Given the description of an element on the screen output the (x, y) to click on. 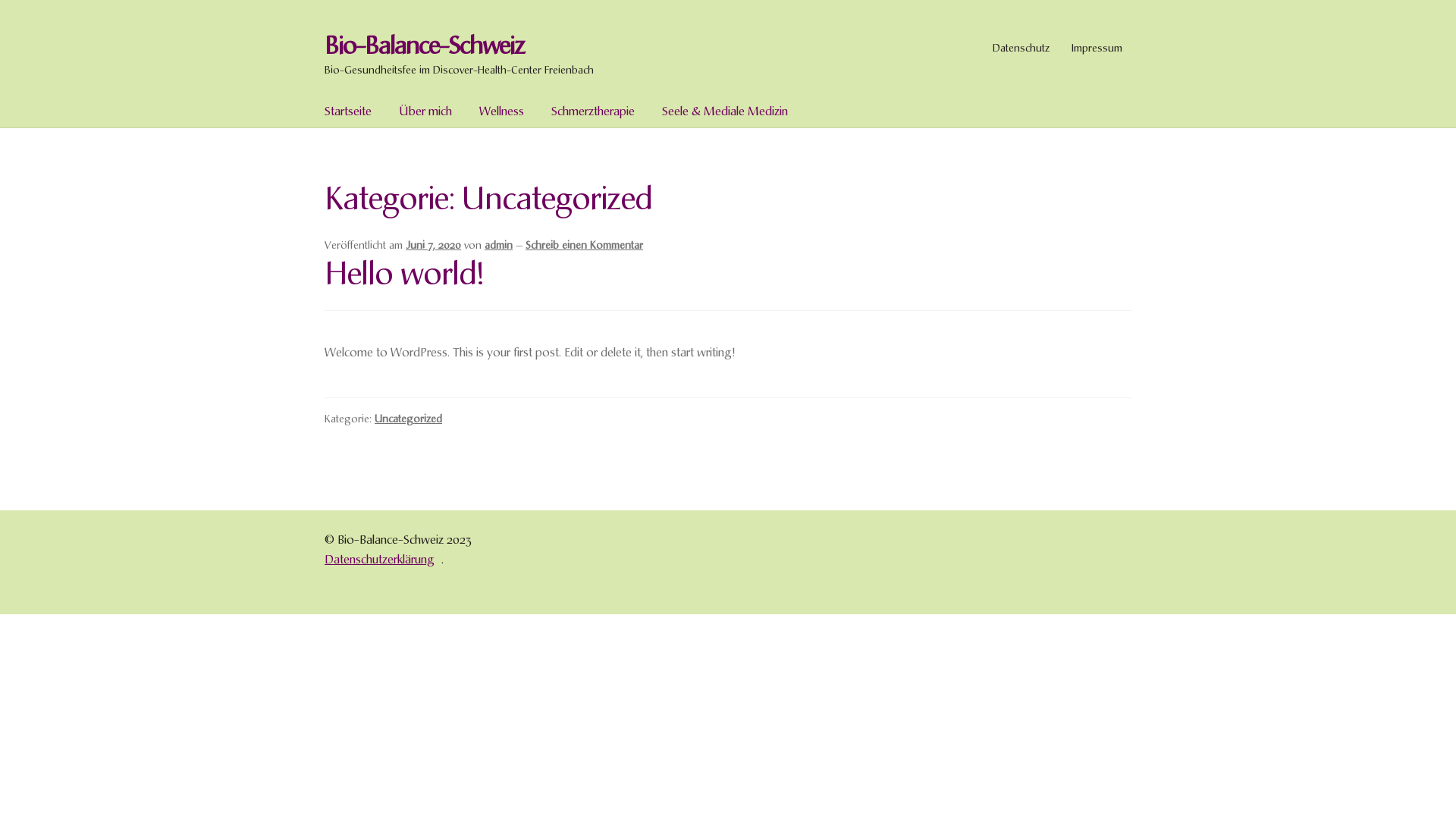
Seele & Mediale Medizin Element type: text (724, 111)
Uncategorized Element type: text (408, 418)
Schreib einen Kommentar Element type: text (584, 244)
Startseite Element type: text (347, 111)
Juni 7, 2020 Element type: text (433, 244)
Wellness Element type: text (501, 111)
Schmerztherapie Element type: text (592, 111)
Datenschutz Element type: text (1021, 47)
Hello world! Element type: text (403, 273)
Zur Navigation springen Element type: text (323, 31)
Bio-Balance-Schweiz Element type: text (424, 45)
admin Element type: text (498, 244)
Impressum Element type: text (1096, 47)
